Given the description of an element on the screen output the (x, y) to click on. 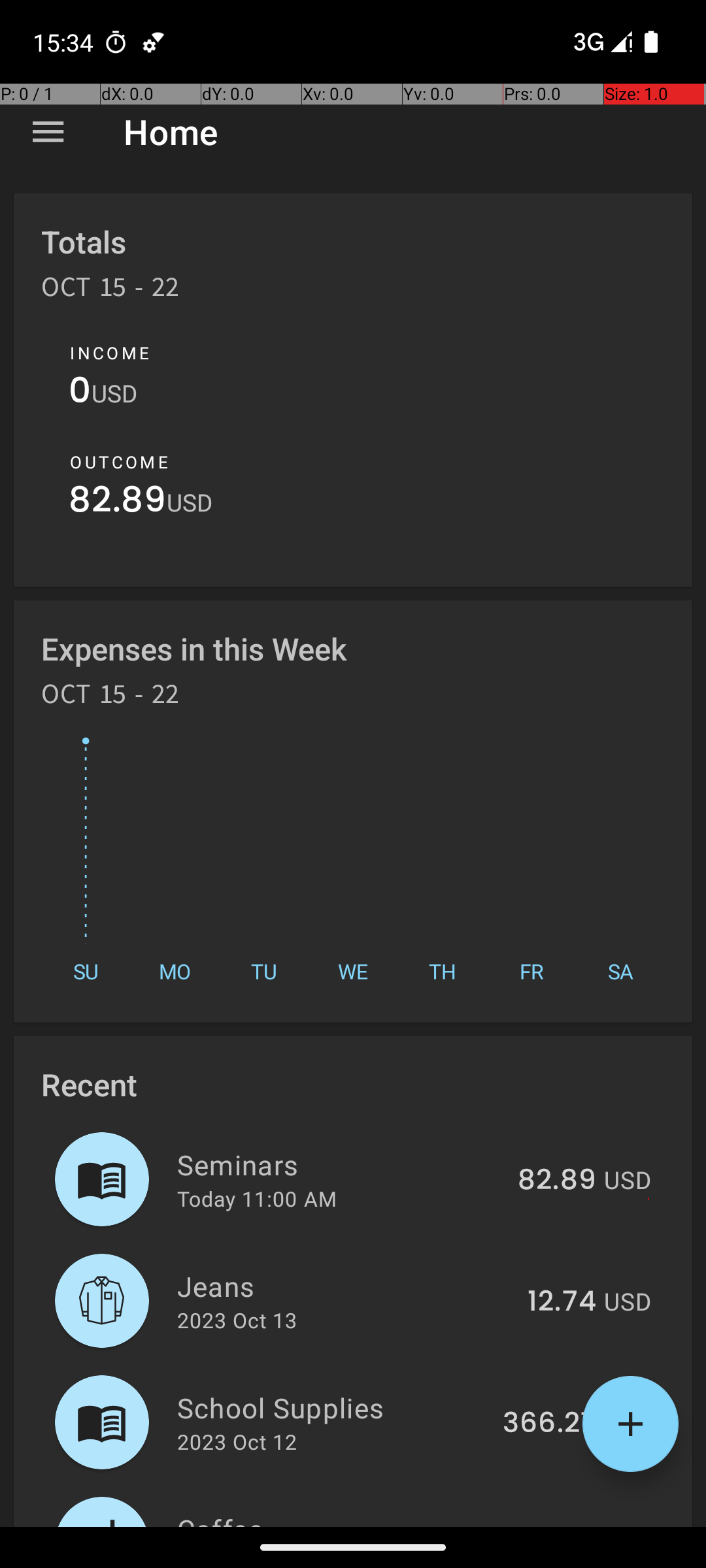
82.89 Element type: android.widget.TextView (117, 502)
Today 11:00 AM Element type: android.widget.TextView (256, 1198)
Jeans Element type: android.widget.TextView (344, 1285)
12.74 Element type: android.widget.TextView (561, 1301)
School Supplies Element type: android.widget.TextView (332, 1407)
366.27 Element type: android.widget.TextView (549, 1423)
411.97 Element type: android.widget.TextView (555, 1524)
